Given the description of an element on the screen output the (x, y) to click on. 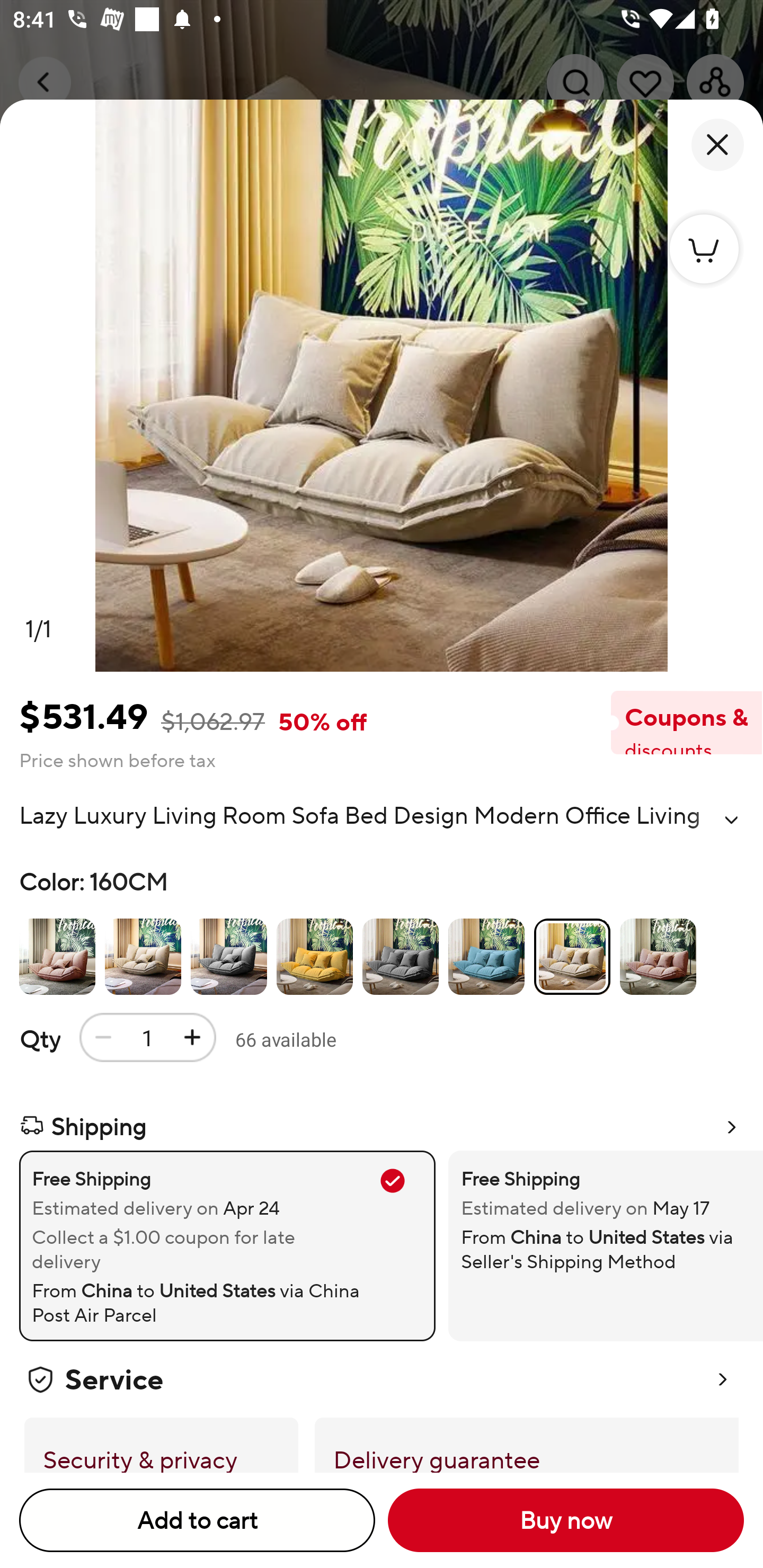
close  (717, 144)
 (730, 819)
Add to cart (197, 1520)
Buy now (565, 1520)
